Given the description of an element on the screen output the (x, y) to click on. 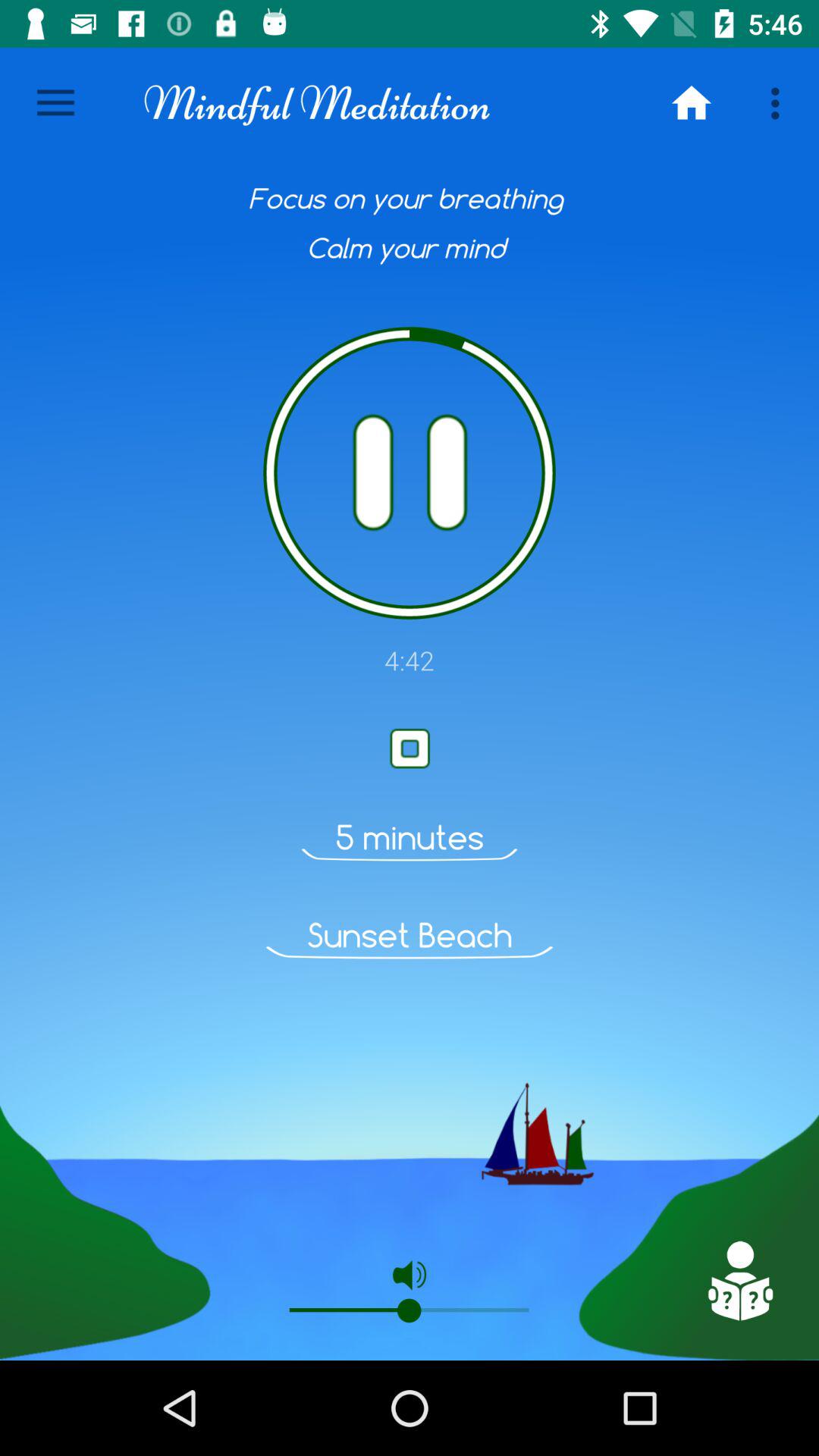
select icon at the top left corner (55, 103)
